Given the description of an element on the screen output the (x, y) to click on. 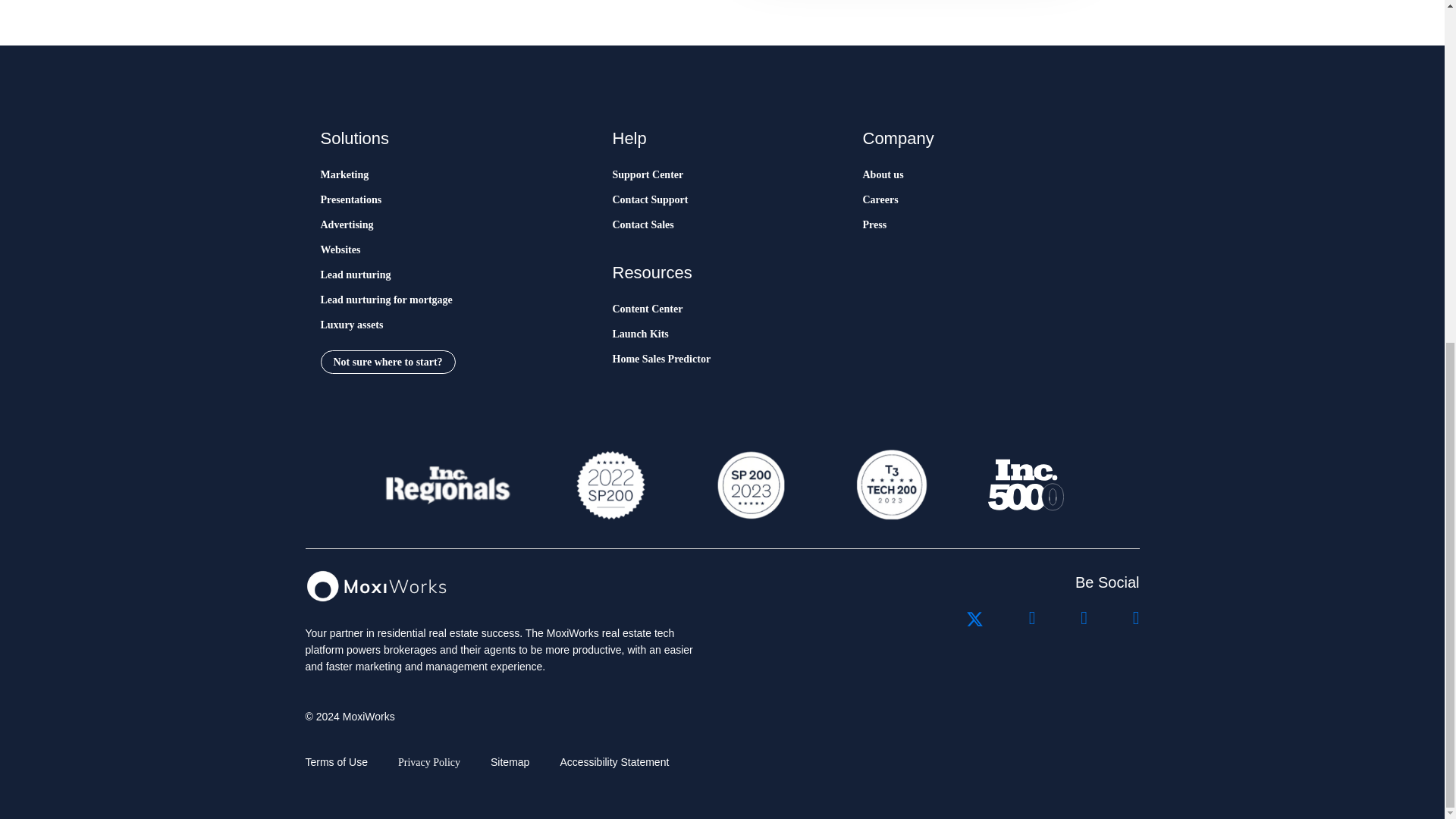
SP 2023 (749, 484)
SP 2022 (610, 484)
T3 tech 200 2023 (890, 484)
